Given the description of an element on the screen output the (x, y) to click on. 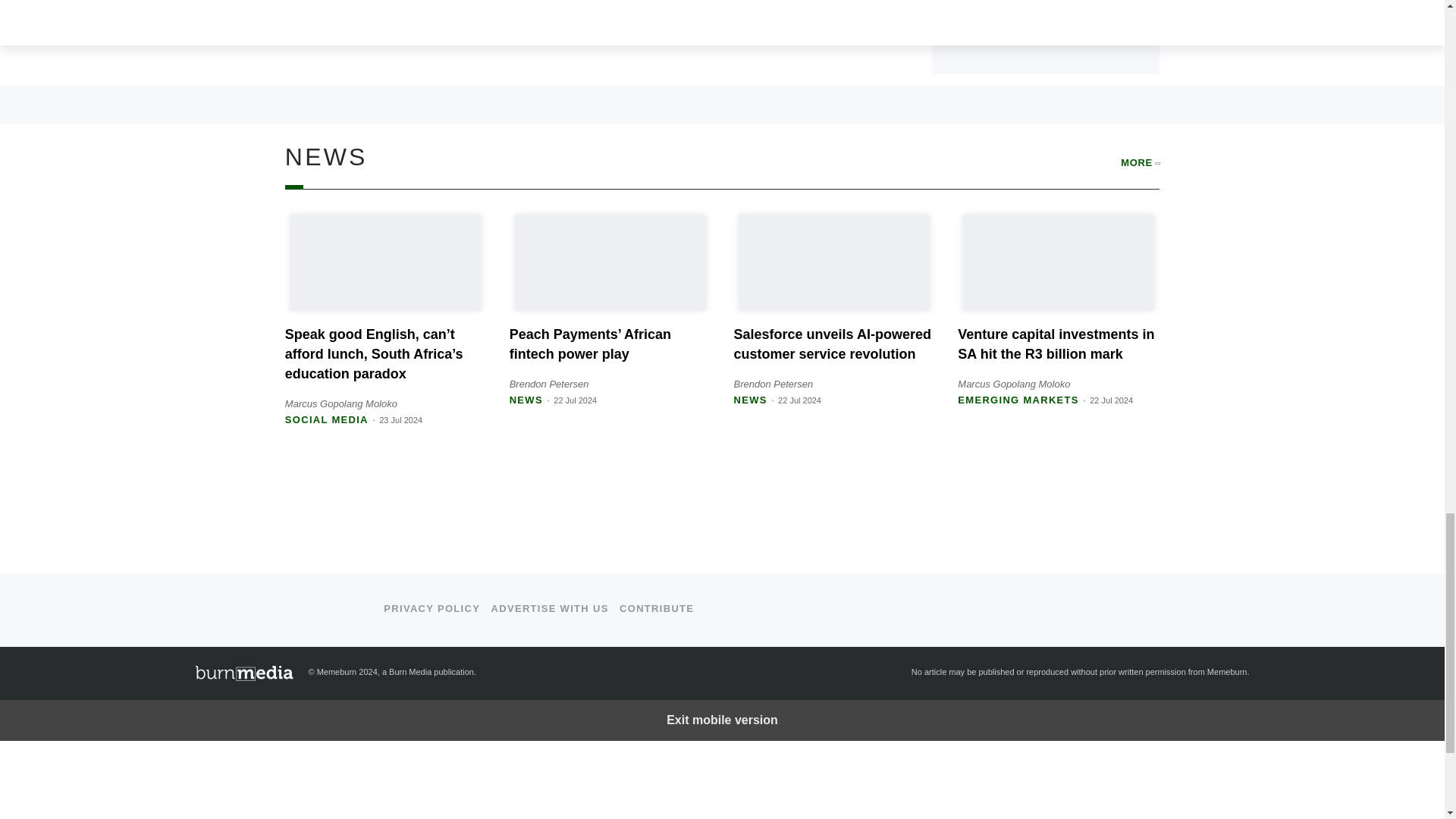
MORE (1139, 162)
23 Jul 2024 (400, 420)
Salesforce unveils AI-powered customer service revolution (831, 343)
22 Jul 2024 (574, 399)
Brendon Petersen (549, 383)
NEWS (526, 399)
Brendon Petersen (772, 383)
SOCIAL MEDIA (326, 419)
READ MORE (860, 31)
NEWS (750, 399)
Marcus Gopolang Moloko (341, 403)
22 Jul 2024 (799, 399)
